Given the description of an element on the screen output the (x, y) to click on. 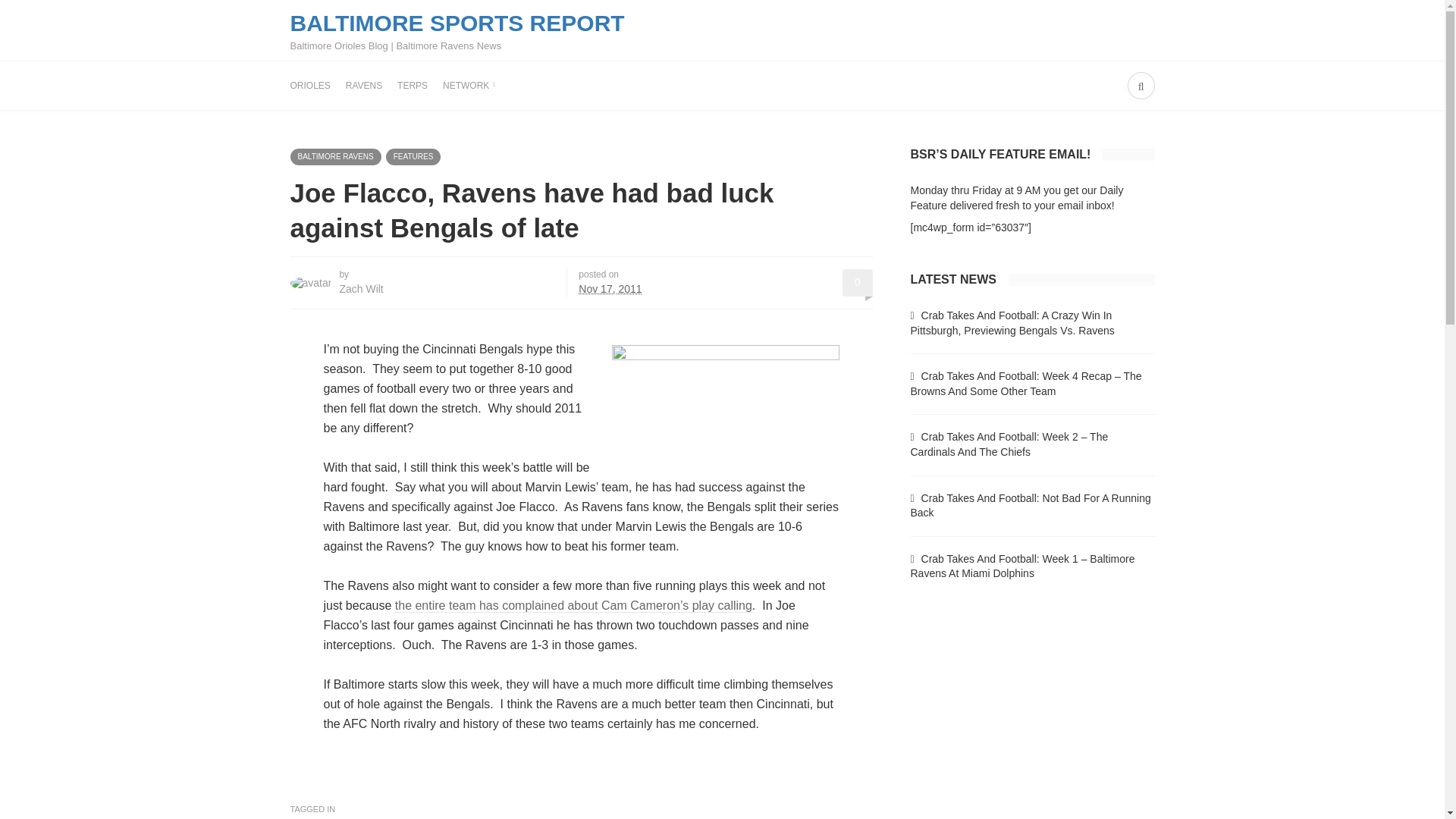
0 (857, 282)
NETWORK (468, 85)
Comment (857, 282)
Baltimore Sports Report (456, 30)
Posts by Zach Wilt (360, 288)
FEATURES (413, 156)
flacco-sacked-bengals (724, 399)
BALTIMORE RAVENS (334, 156)
View all posts in Baltimore Ravens (334, 156)
Nov 17, 2011 (610, 288)
View all posts in Features (413, 156)
Zach Wilt (360, 288)
